Given the description of an element on the screen output the (x, y) to click on. 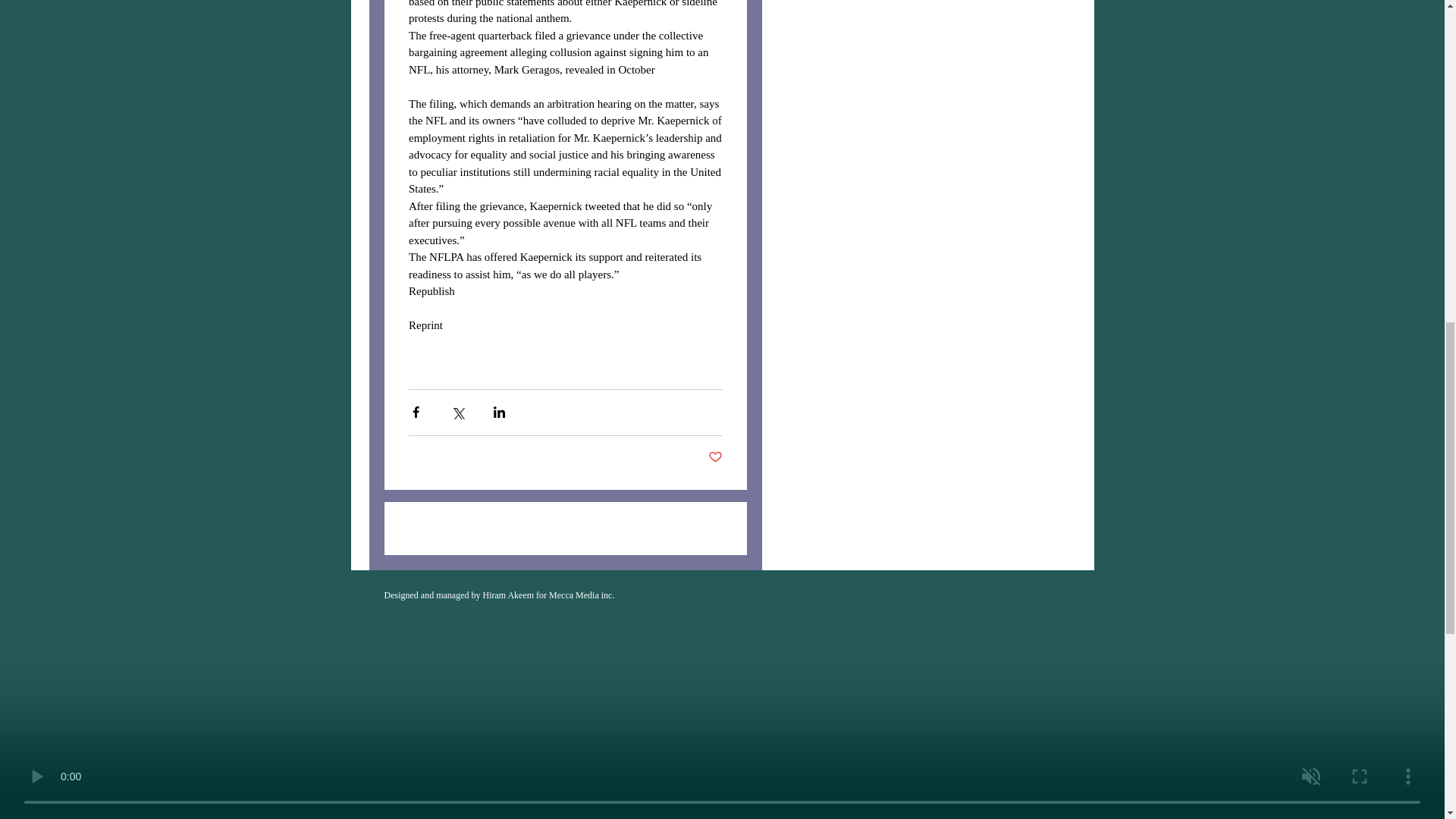
Post not marked as liked (714, 457)
